Given the description of an element on the screen output the (x, y) to click on. 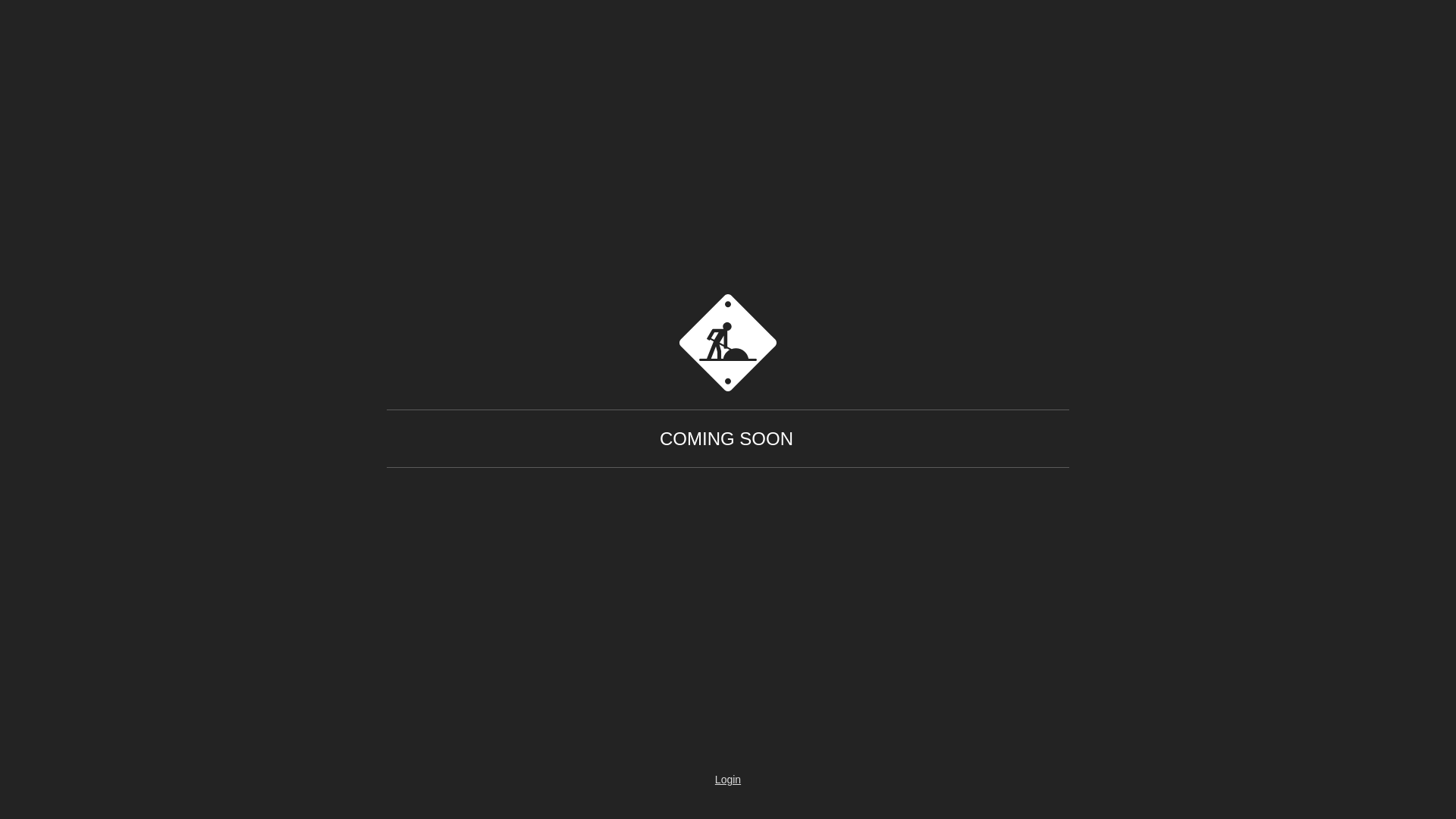
Login Element type: text (727, 779)
